Given the description of an element on the screen output the (x, y) to click on. 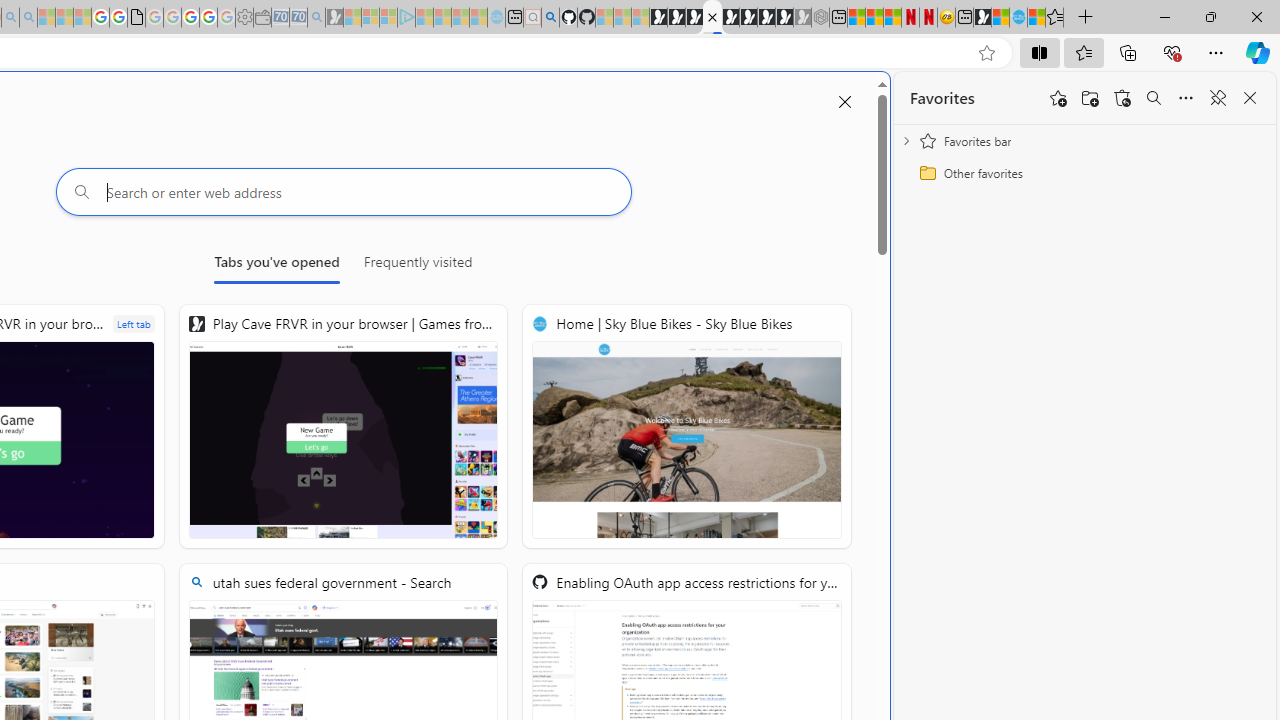
Search or enter web address (343, 191)
google_privacy_policy_zh-CN.pdf (136, 17)
Settings - Sleeping (244, 17)
Restore deleted favorites (1122, 98)
New split screen (712, 17)
